Given the description of an element on the screen output the (x, y) to click on. 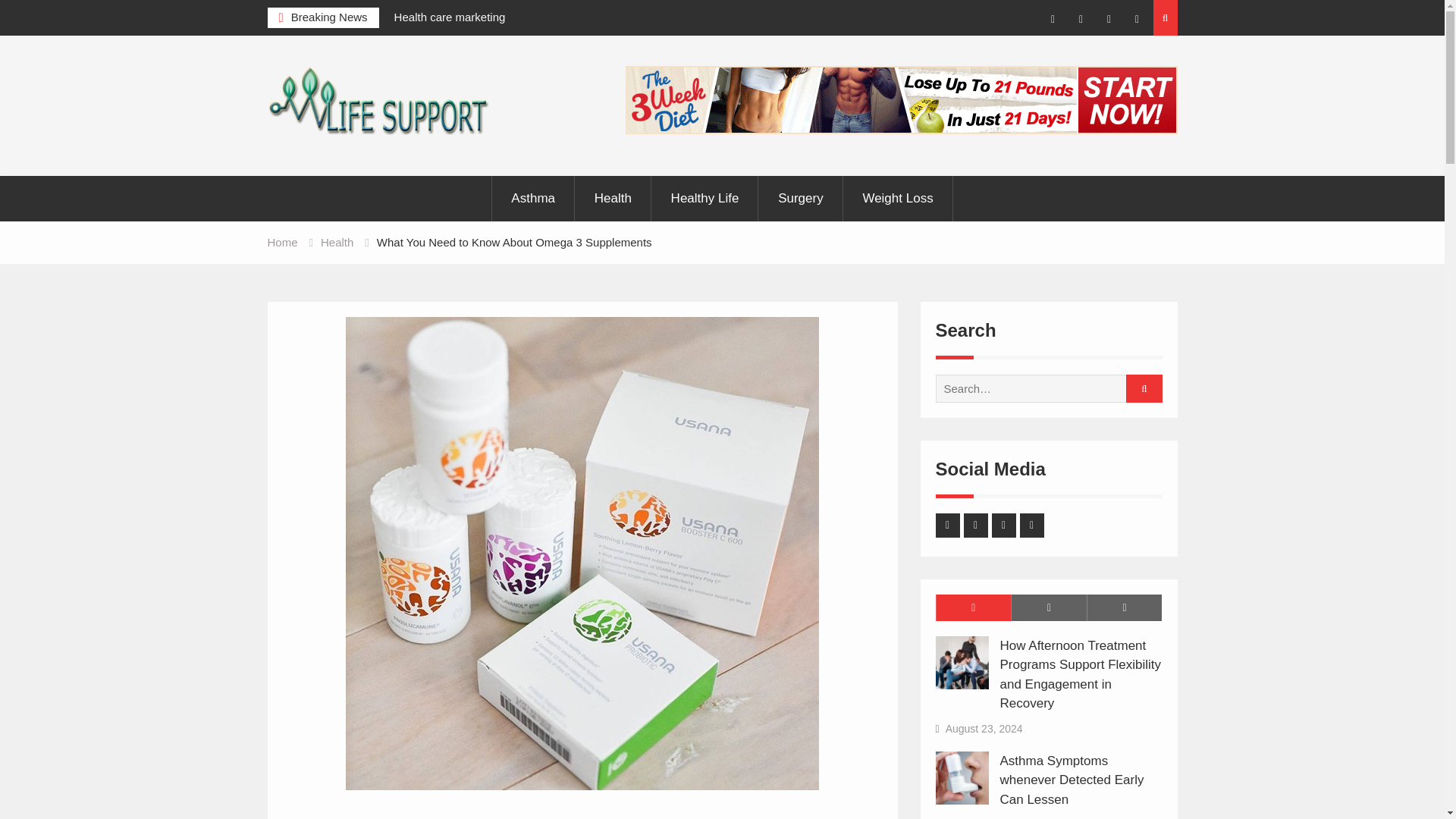
Linked In (1108, 19)
Health (612, 198)
Weight Loss (897, 198)
Twitter (1080, 19)
Healthy Life (705, 198)
Surgery (800, 198)
Facebook (1052, 19)
Search for: (1043, 388)
Home (281, 241)
Health (336, 241)
